Given the description of an element on the screen output the (x, y) to click on. 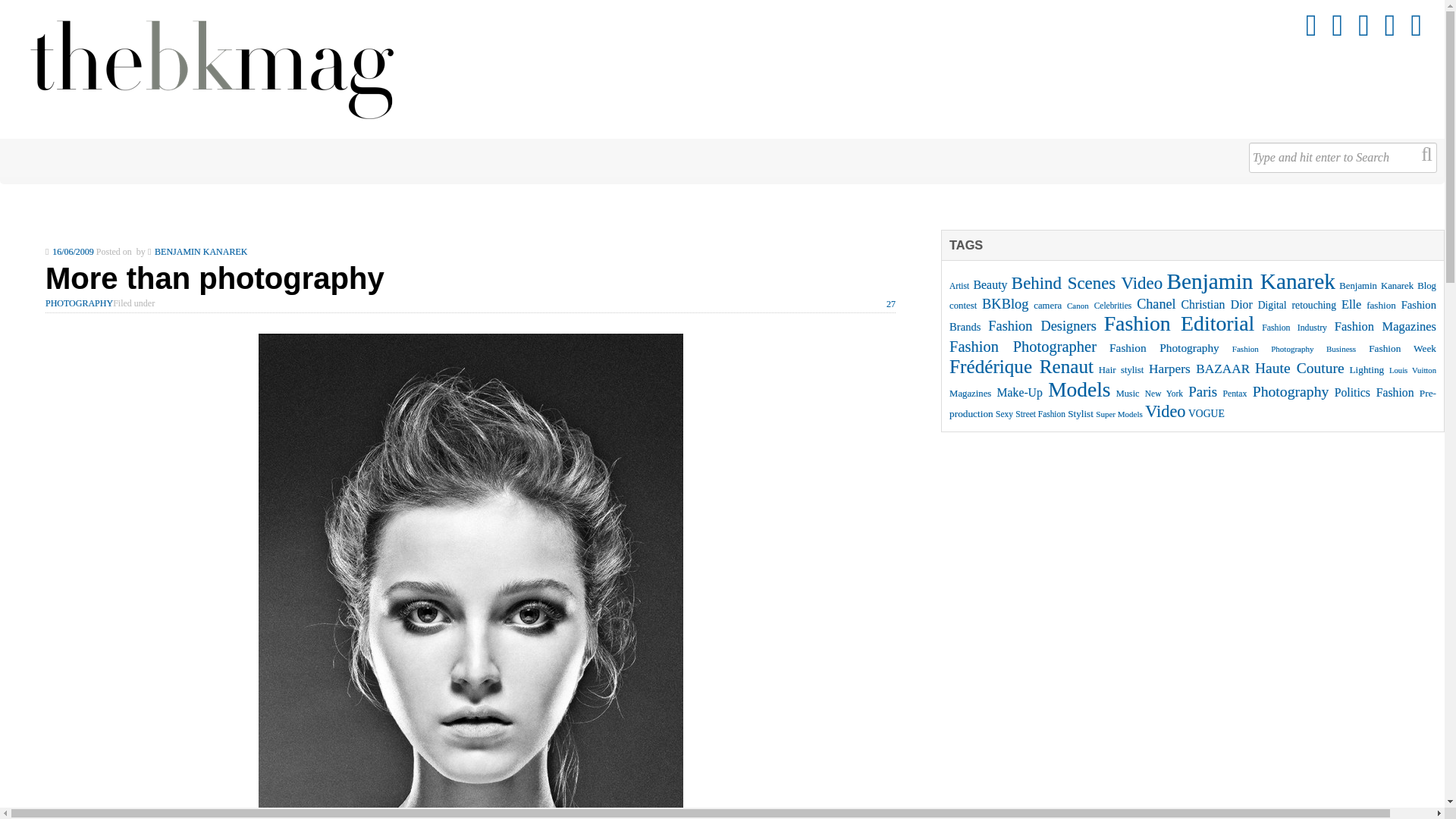
Benjamin Kanarek Blog contest (1192, 295)
Beauty (989, 284)
BKBlog (1004, 304)
Canon (1078, 305)
PHOTOGRAPHY (79, 302)
camera (1047, 305)
Benjamin Kanarek (1250, 281)
Type and hit enter to Search (1343, 157)
BENJAMIN KANAREK (200, 251)
Celebrities (1112, 305)
